Given the description of an element on the screen output the (x, y) to click on. 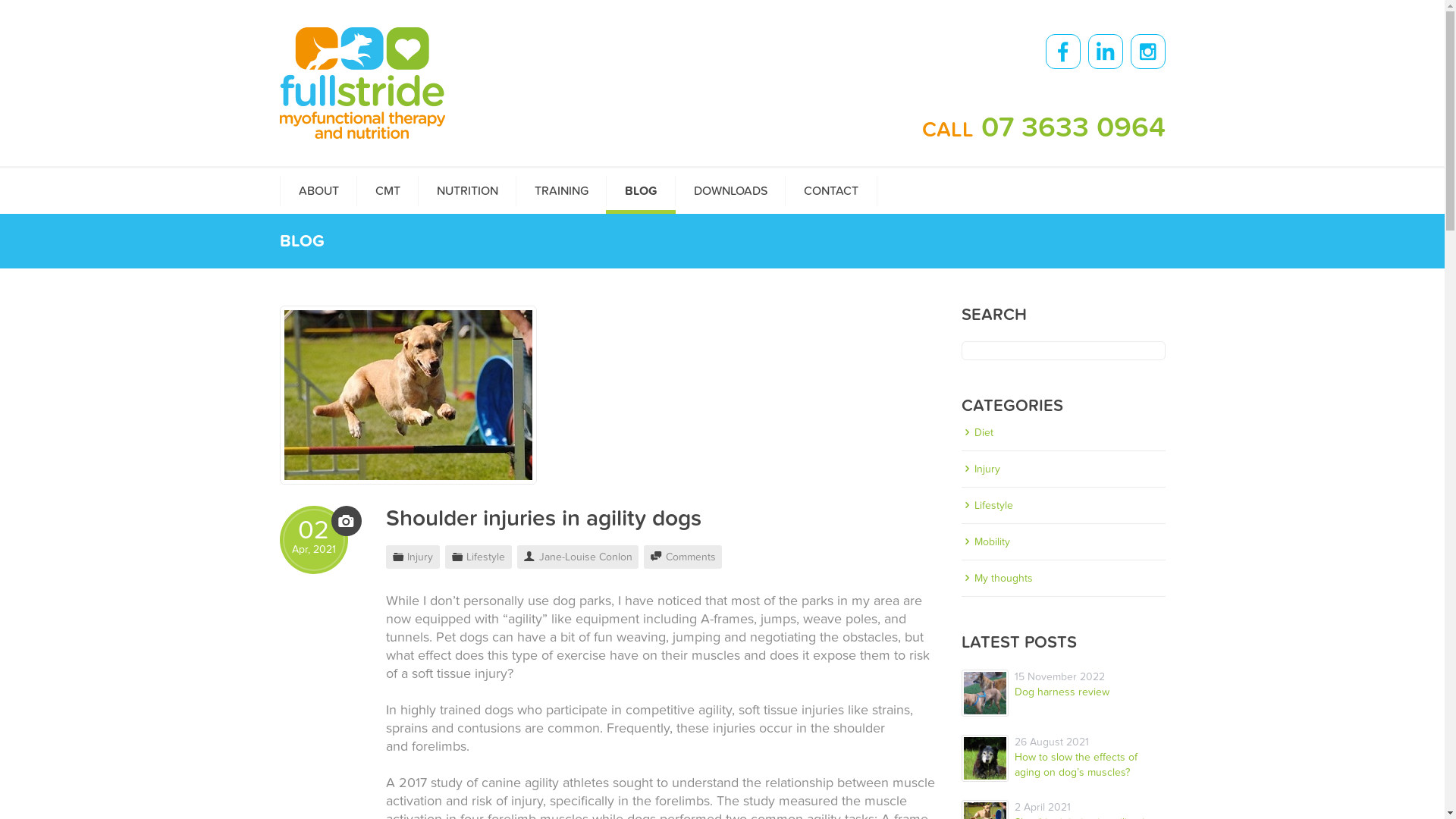
BLOG Element type: text (639, 190)
Lifestyle Element type: text (1063, 505)
Injury Element type: text (1063, 468)
Facebook Element type: text (1061, 51)
Instagram Element type: text (1146, 51)
CMT Element type: text (387, 190)
My thoughts Element type: text (1063, 578)
DOWNLOADS Element type: text (729, 190)
CONTACT Element type: text (830, 190)
Comments Element type: text (690, 556)
ABOUT Element type: text (317, 190)
Mobility Element type: text (1063, 541)
Lifestyle Element type: text (485, 556)
Injury Element type: text (420, 556)
Jane-Louise Conlon Element type: text (585, 556)
LinkedIn Element type: text (1104, 51)
NUTRITION Element type: text (466, 190)
Diet Element type: text (1063, 432)
TRAINING Element type: text (560, 190)
